Given the description of an element on the screen output the (x, y) to click on. 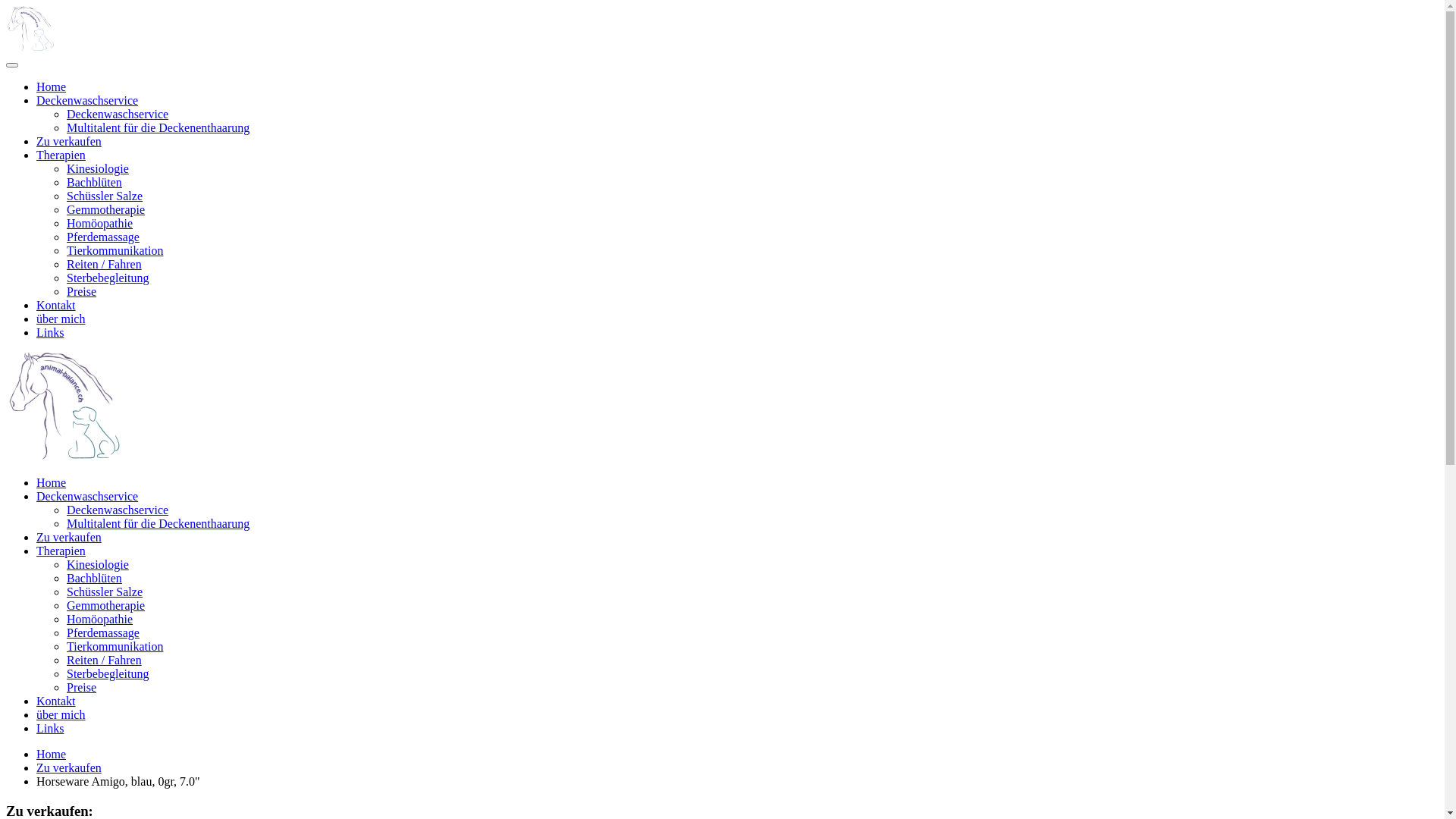
Skip to main content Element type: text (56, 12)
Zu verkaufen Element type: text (68, 767)
Pferdemassage Element type: text (102, 236)
Links Element type: text (49, 332)
Home Element type: text (50, 86)
Kinesiologie Element type: text (97, 168)
Therapien Element type: text (60, 550)
Kontakt Element type: text (55, 304)
Reiten / Fahren Element type: text (103, 263)
Zu verkaufen Element type: text (68, 536)
Home Element type: text (50, 482)
Zu verkaufen Element type: text (68, 140)
Preise Element type: text (81, 686)
Kinesiologie Element type: text (97, 564)
Tierkommunikation Element type: text (114, 250)
Home Element type: text (50, 753)
Kontakt Element type: text (55, 700)
Gemmotherapie Element type: text (105, 605)
Gemmotherapie Element type: text (105, 209)
Deckenwaschservice Element type: text (117, 113)
Therapien Element type: text (60, 154)
Pferdemassage Element type: text (102, 632)
Deckenwaschservice Element type: text (87, 100)
Sterbebegleitung Element type: text (107, 277)
Links Element type: text (49, 727)
Sterbebegleitung Element type: text (107, 673)
Reiten / Fahren Element type: text (103, 659)
Preise Element type: text (81, 291)
Deckenwaschservice Element type: text (117, 509)
Tierkommunikation Element type: text (114, 646)
Deckenwaschservice Element type: text (87, 495)
